Given the description of an element on the screen output the (x, y) to click on. 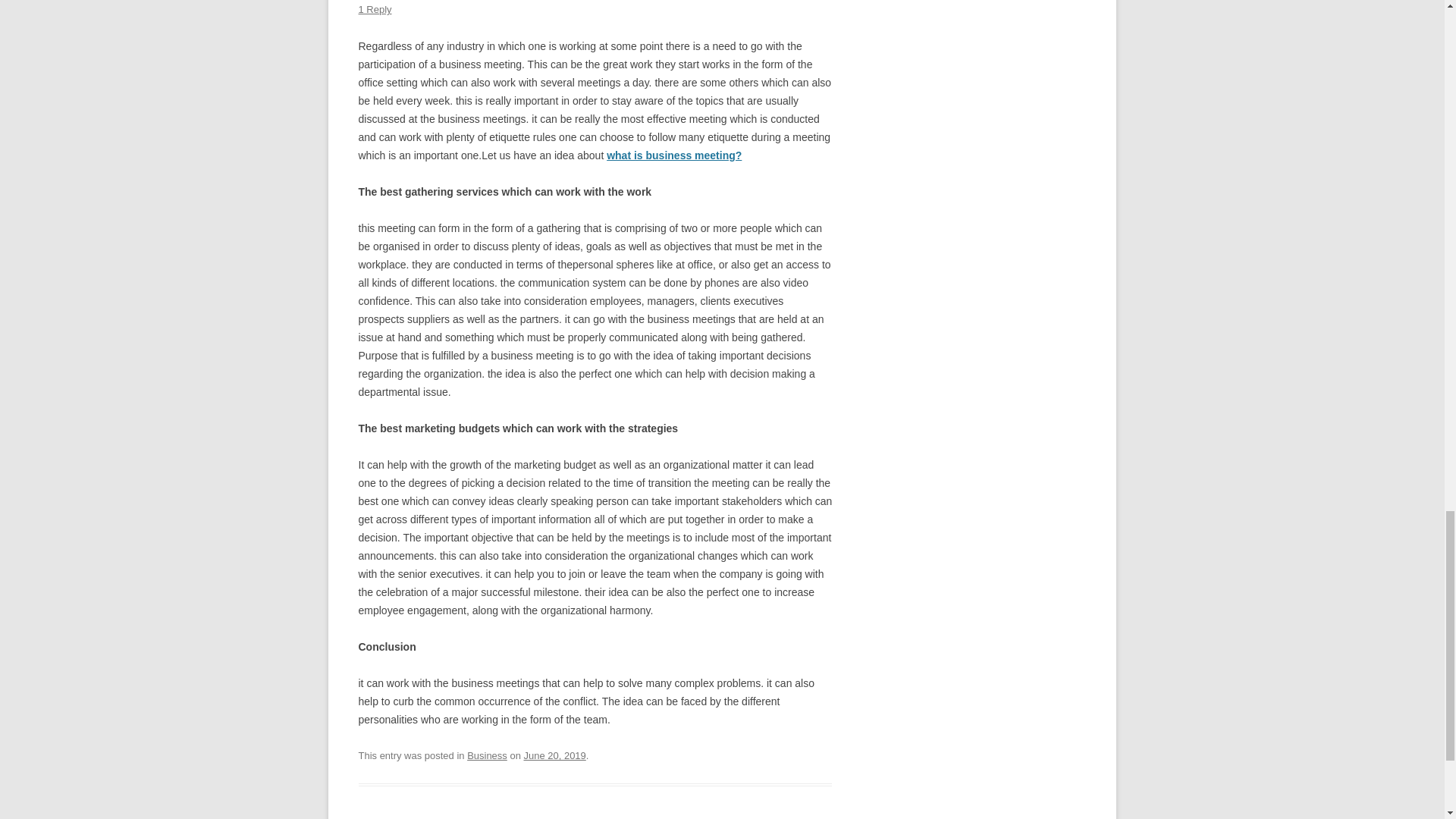
12:07 pm (553, 755)
Business (486, 755)
June 20, 2019 (553, 755)
1 Reply (374, 9)
what is business meeting? (674, 155)
